Given the description of an element on the screen output the (x, y) to click on. 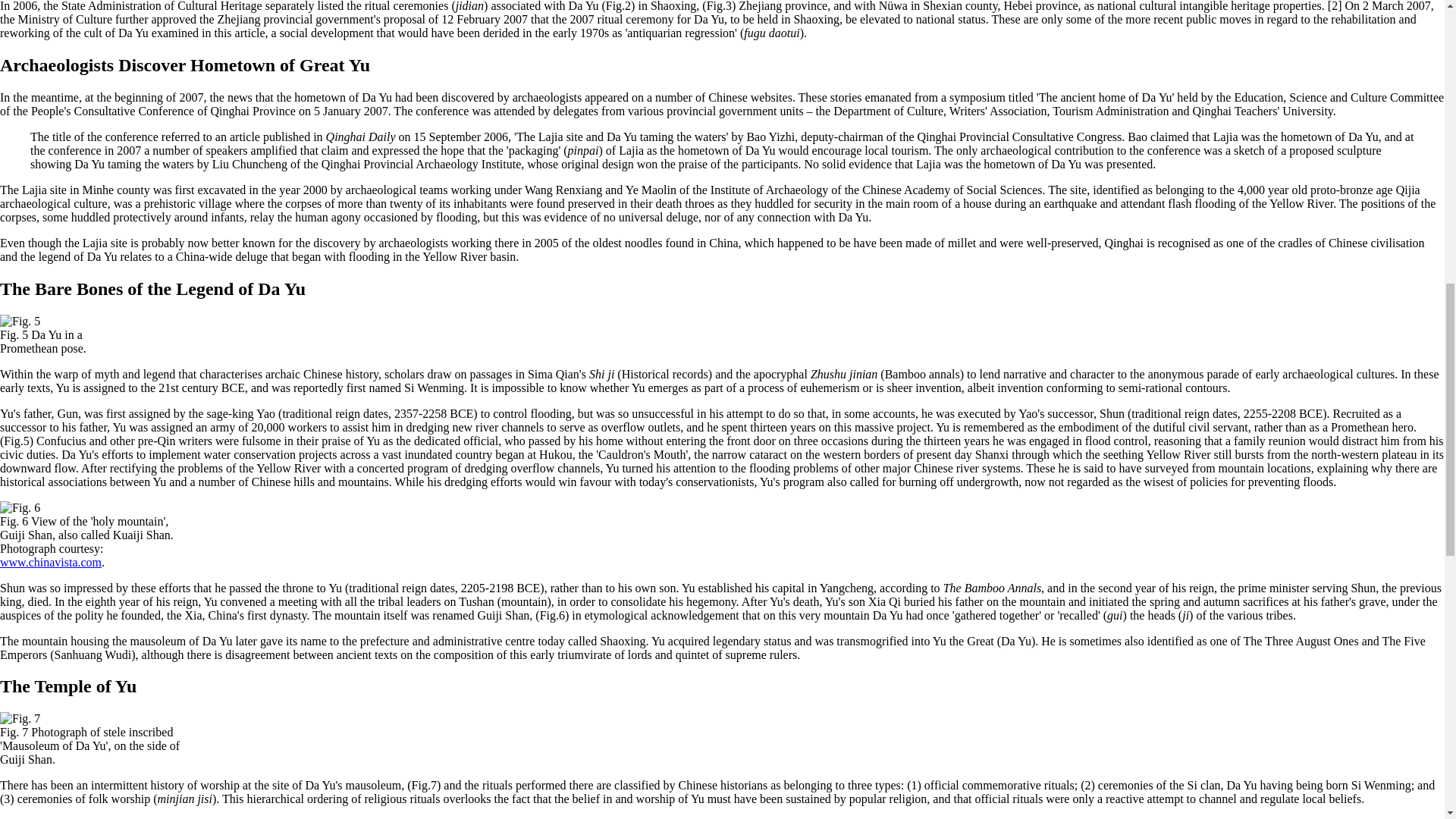
www.chinavista.com (50, 561)
